Given the description of an element on the screen output the (x, y) to click on. 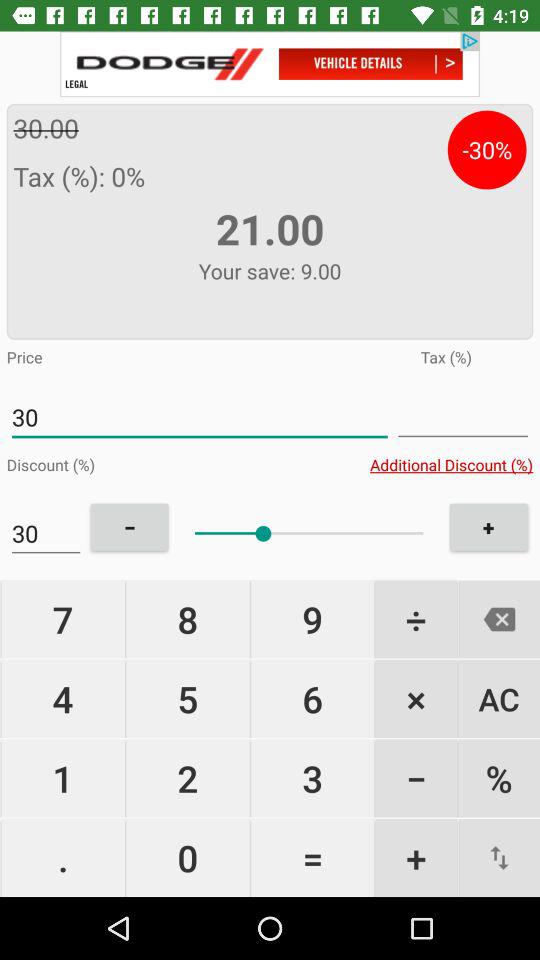
switch inputs to be in tax field (463, 417)
